Given the description of an element on the screen output the (x, y) to click on. 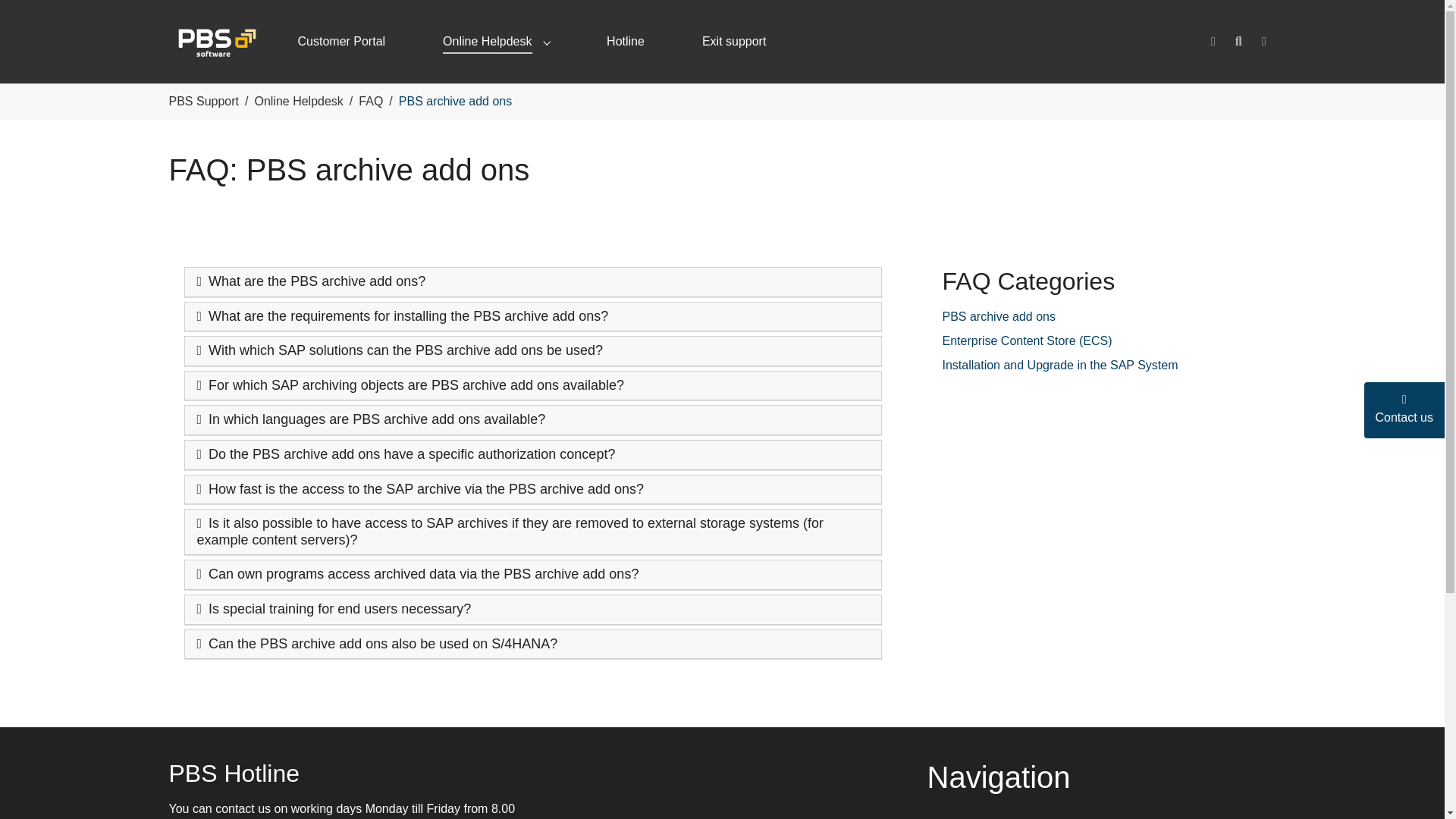
PBS archive add ons (998, 316)
Installation and Upgrade in the SAP System (1059, 364)
Search (1238, 41)
Hotline (624, 41)
Online Helpdesk (297, 101)
Exit support (733, 41)
PBS Support (203, 101)
PBS Support (203, 101)
Installation and Upgrade in the SAP System (1059, 364)
Customer Portal (341, 41)
